Given the description of an element on the screen output the (x, y) to click on. 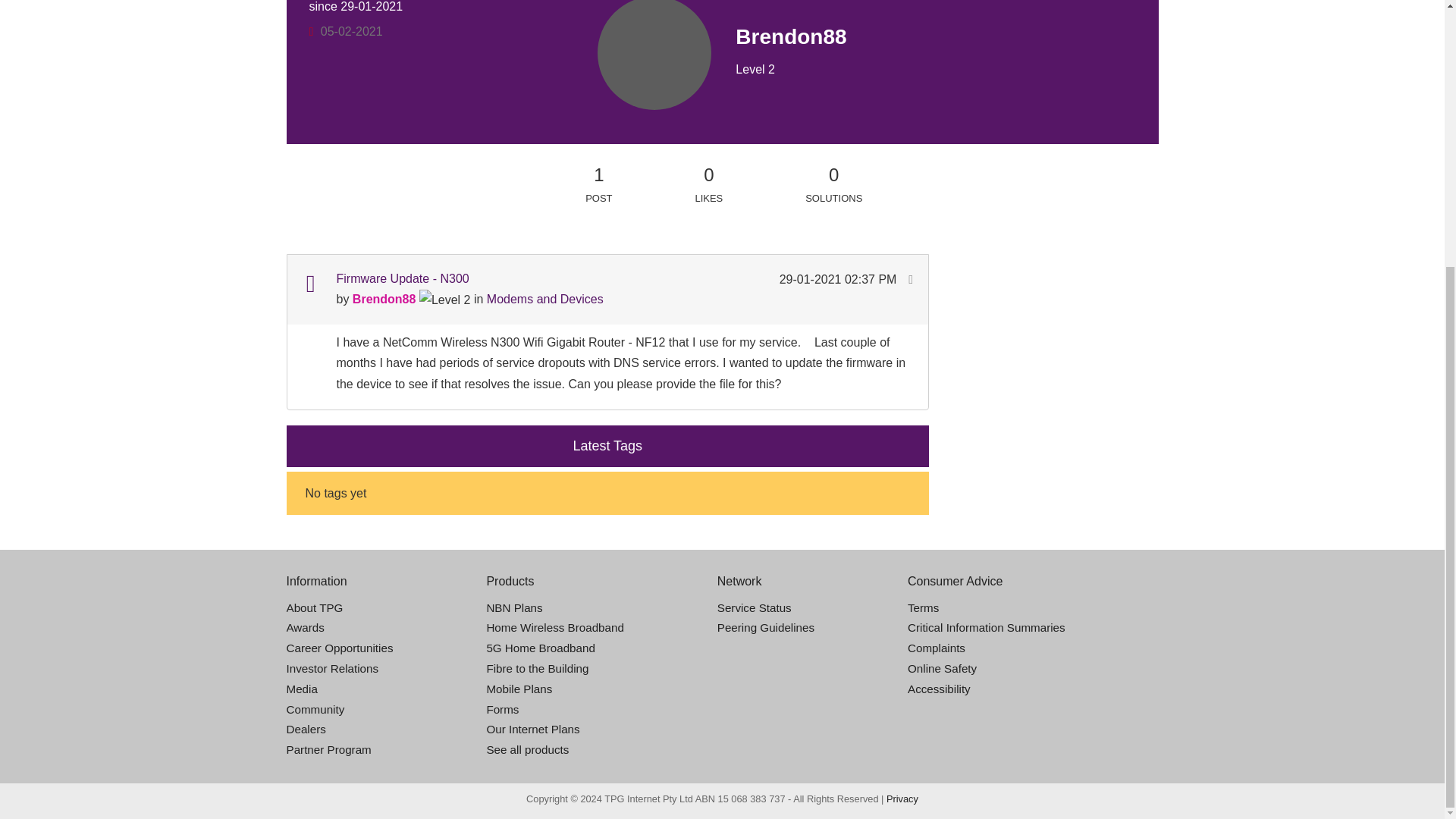
Brendon88 (654, 111)
Posted on (838, 279)
Level 2 (444, 299)
User is offline (311, 31)
Forum (309, 283)
